Given the description of an element on the screen output the (x, y) to click on. 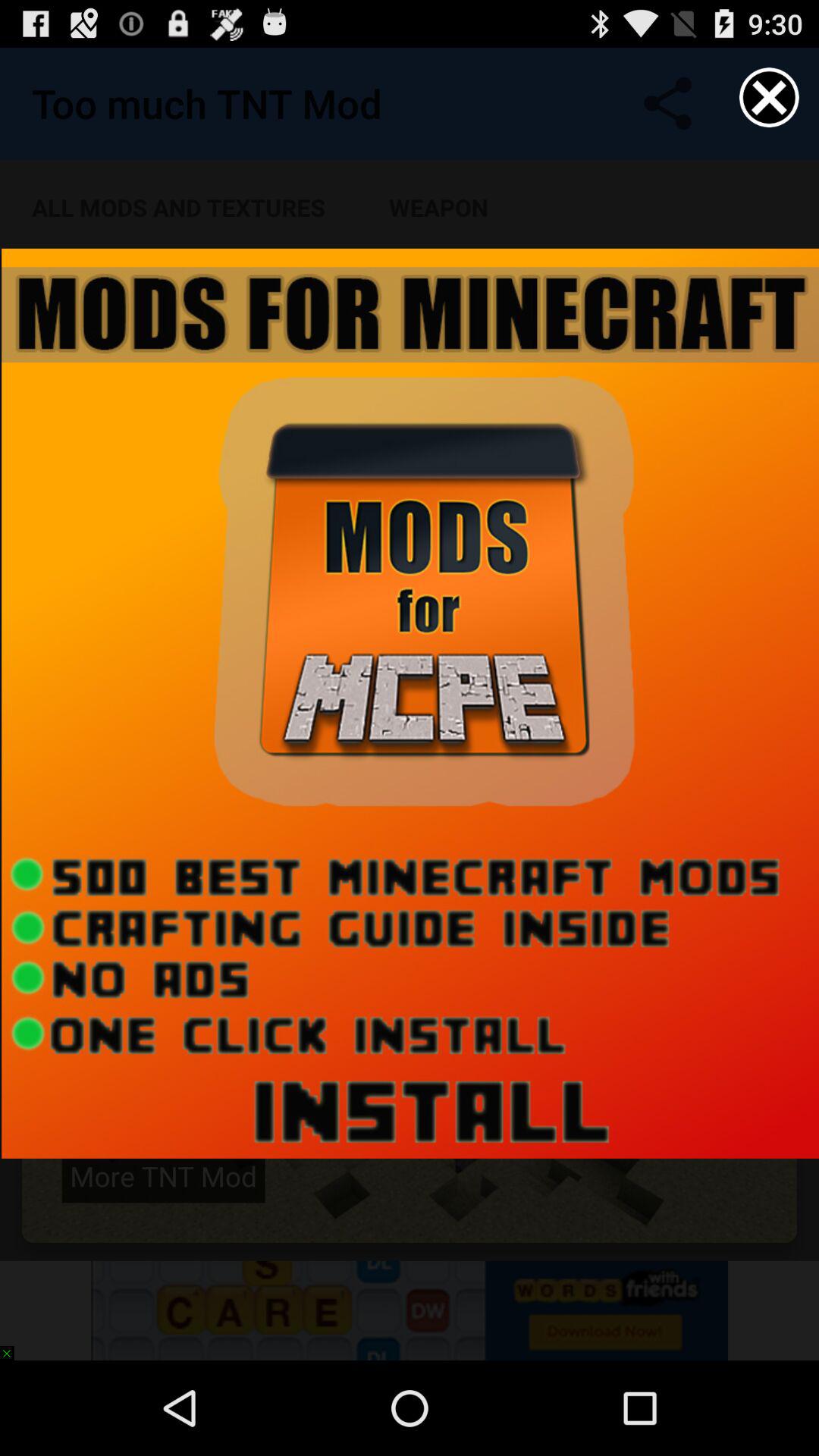
press icon at the bottom left corner (14, 1346)
